Given the description of an element on the screen output the (x, y) to click on. 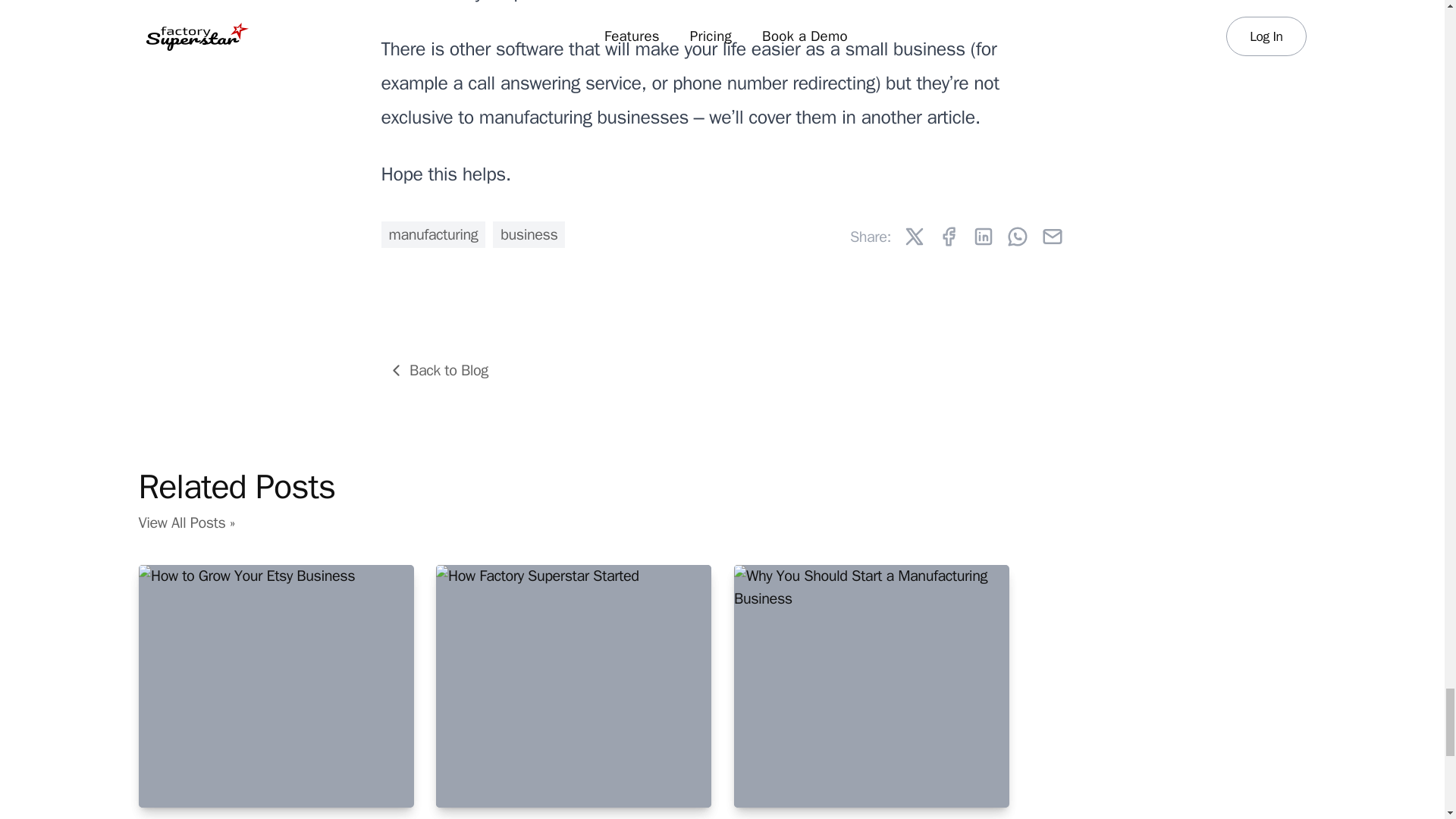
Linkedin Share (983, 236)
Facebook Share (948, 236)
Whatsapp Share (1017, 236)
manufacturing (432, 234)
Back to Blog (439, 369)
business (528, 234)
Email Share (1051, 236)
Twitter Share (913, 236)
